Given the description of an element on the screen output the (x, y) to click on. 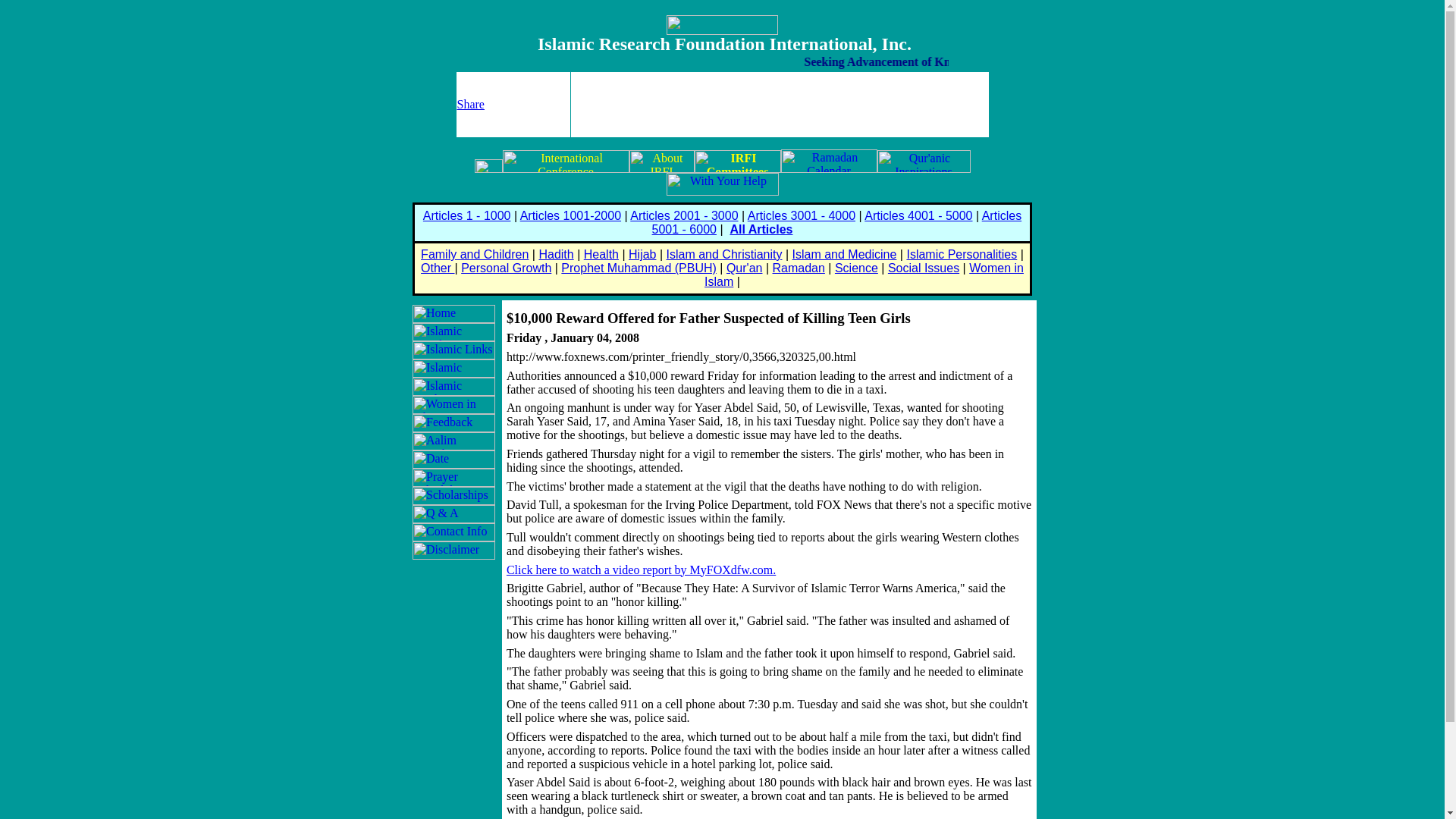
Articles 3001 - 4000 (802, 215)
Hadith (555, 254)
Articles 4001 - 5000 (918, 215)
Family and Children (474, 254)
Social Issues (923, 267)
Share (470, 103)
Articles 2001 - 3000 (684, 215)
Health (600, 254)
Qur'an (744, 267)
Personal Growth (506, 267)
Hijab (642, 254)
Science (855, 267)
Articles 1 - 1000 (467, 215)
Other (437, 267)
Articles 5001 - 6000 (837, 222)
